Given the description of an element on the screen output the (x, y) to click on. 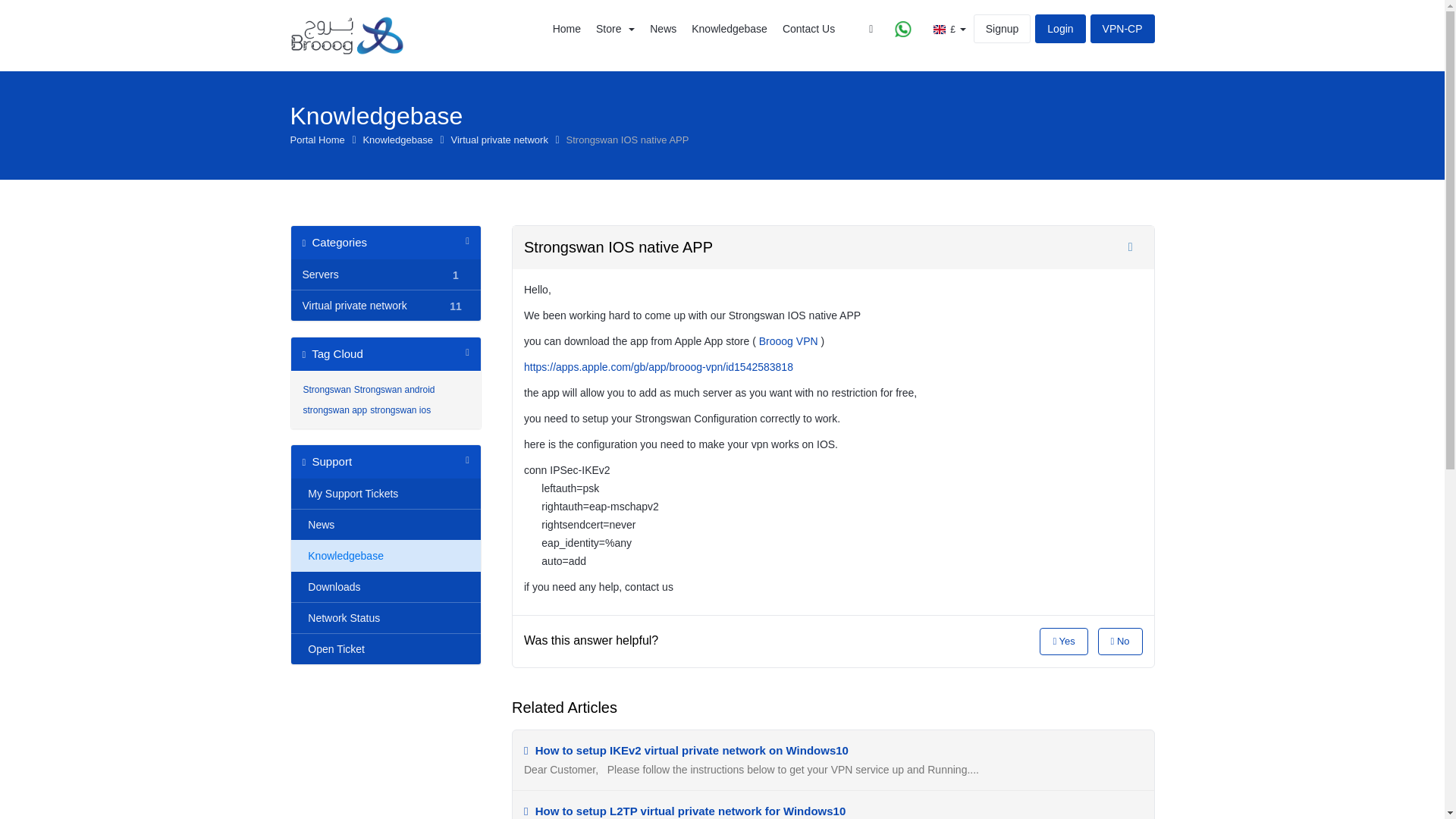
Knowledgebase (398, 139)
Store   (615, 28)
Signup (1002, 28)
Servers (371, 274)
Login (1059, 28)
Knowledgebase (729, 28)
VPN-CP (1122, 28)
Virtual private network (371, 305)
No (1119, 642)
Strongswan (326, 389)
Contact Us (808, 28)
How to setup IKEv2 virtual private network on Windows10 (686, 749)
Strongswan android (394, 389)
How to setup L2TP virtual private network for Windows10 (684, 810)
Virtual private network (501, 139)
